Given the description of an element on the screen output the (x, y) to click on. 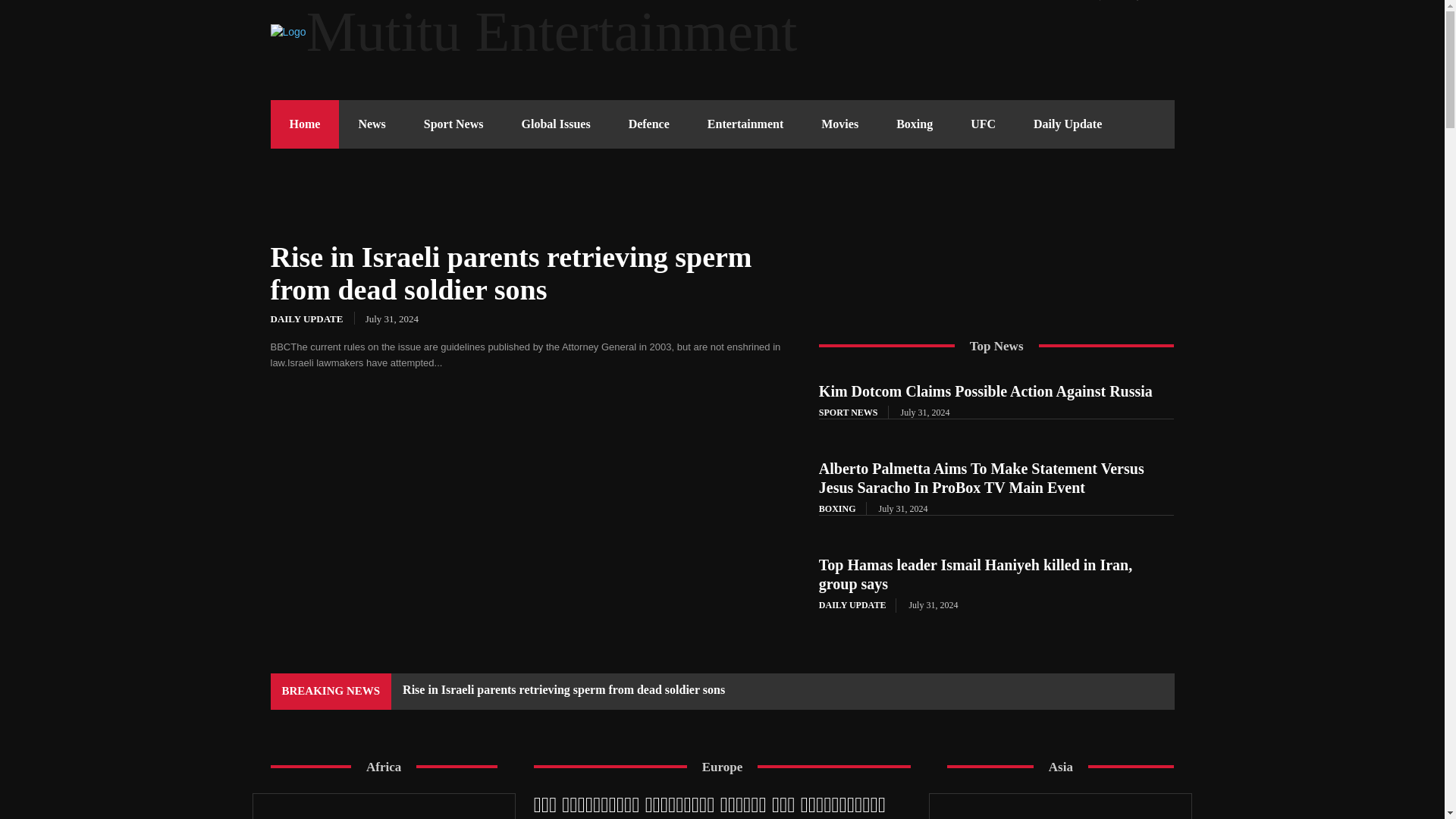
Boxing (914, 123)
Sport News (453, 123)
Global Issues (555, 123)
Movies (839, 123)
Kim Dotcom Claims Possible Action Against Russia (985, 391)
UFC (983, 123)
Defence (649, 123)
Mutitu Entertainment (721, 31)
Entertainment (745, 123)
News (371, 123)
Home (304, 123)
